Given the description of an element on the screen output the (x, y) to click on. 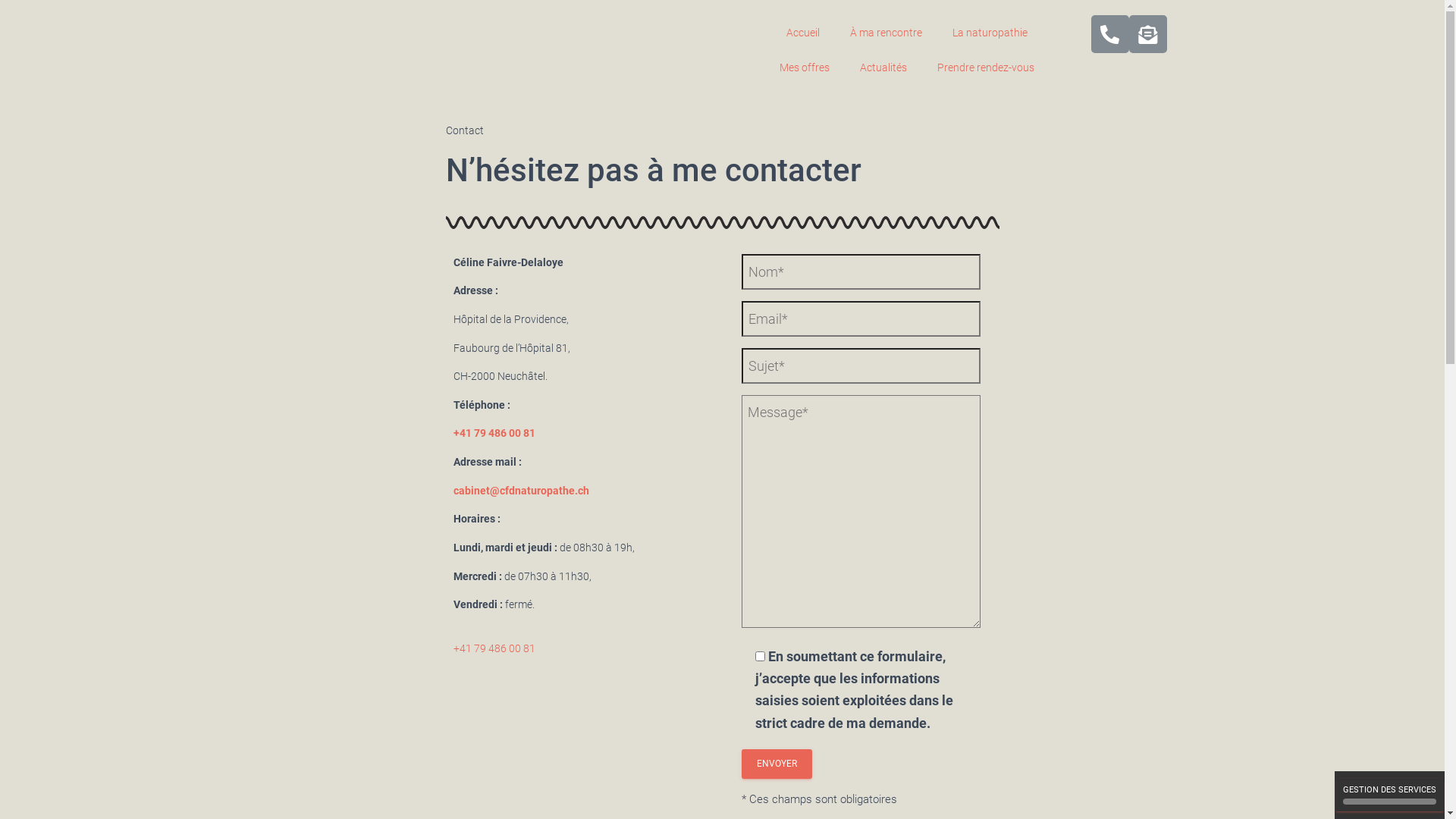
+41 79 486 00 81 Element type: text (494, 648)
Contact Element type: text (464, 130)
Prendre rendez-vous Element type: text (985, 67)
GESTION DES SERVICES Element type: text (1389, 794)
Mes offres Element type: text (804, 67)
+41 79 486 00 81 Element type: text (494, 432)
Accueil Element type: text (802, 32)
cabinet@cfdnaturopathe.ch Element type: text (521, 490)
La naturopathie Element type: text (989, 32)
Envoyer Element type: text (776, 763)
